Given the description of an element on the screen output the (x, y) to click on. 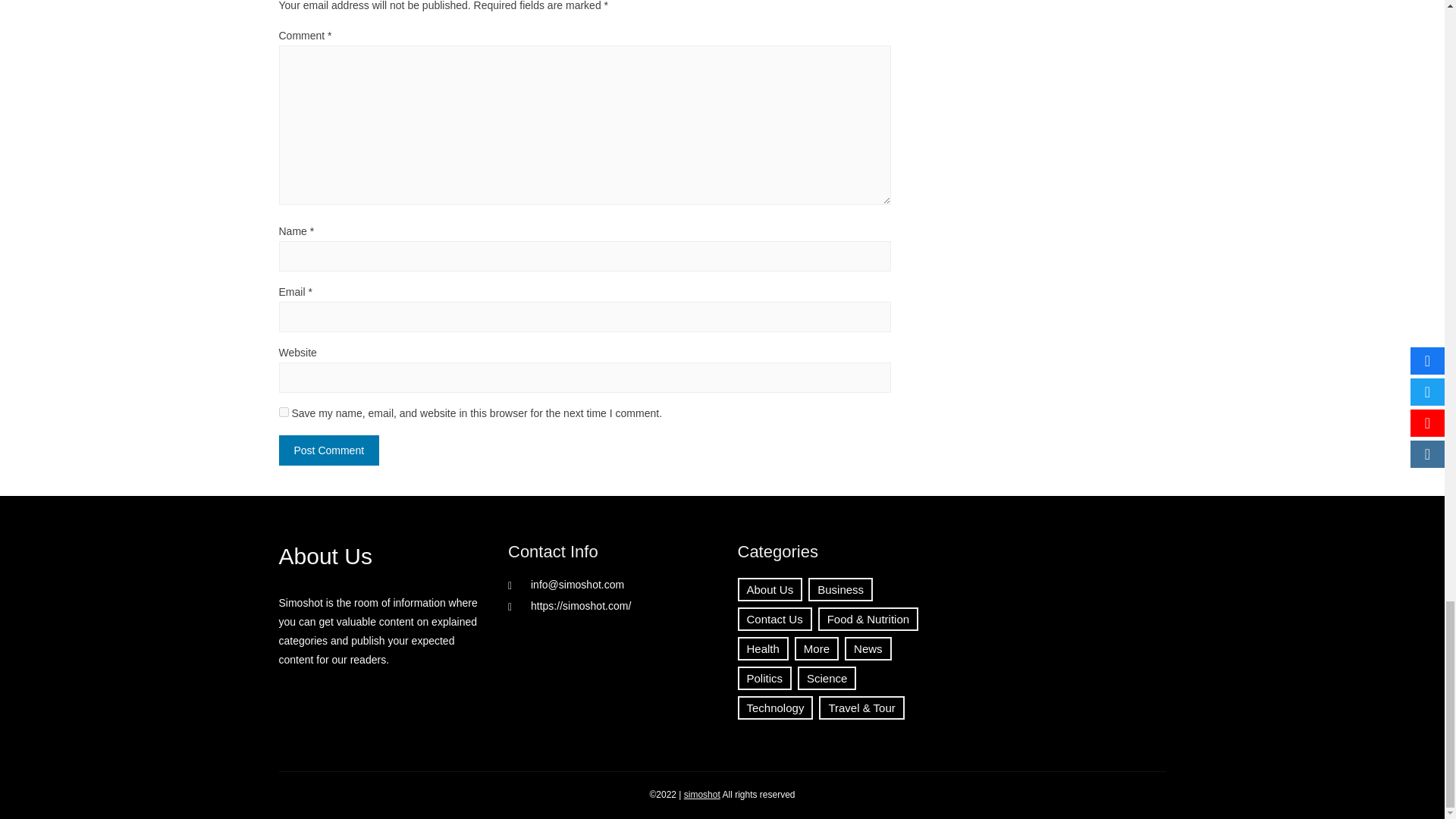
Post Comment (329, 450)
simoshot (702, 794)
Post Comment (329, 450)
yes (283, 411)
